Given the description of an element on the screen output the (x, y) to click on. 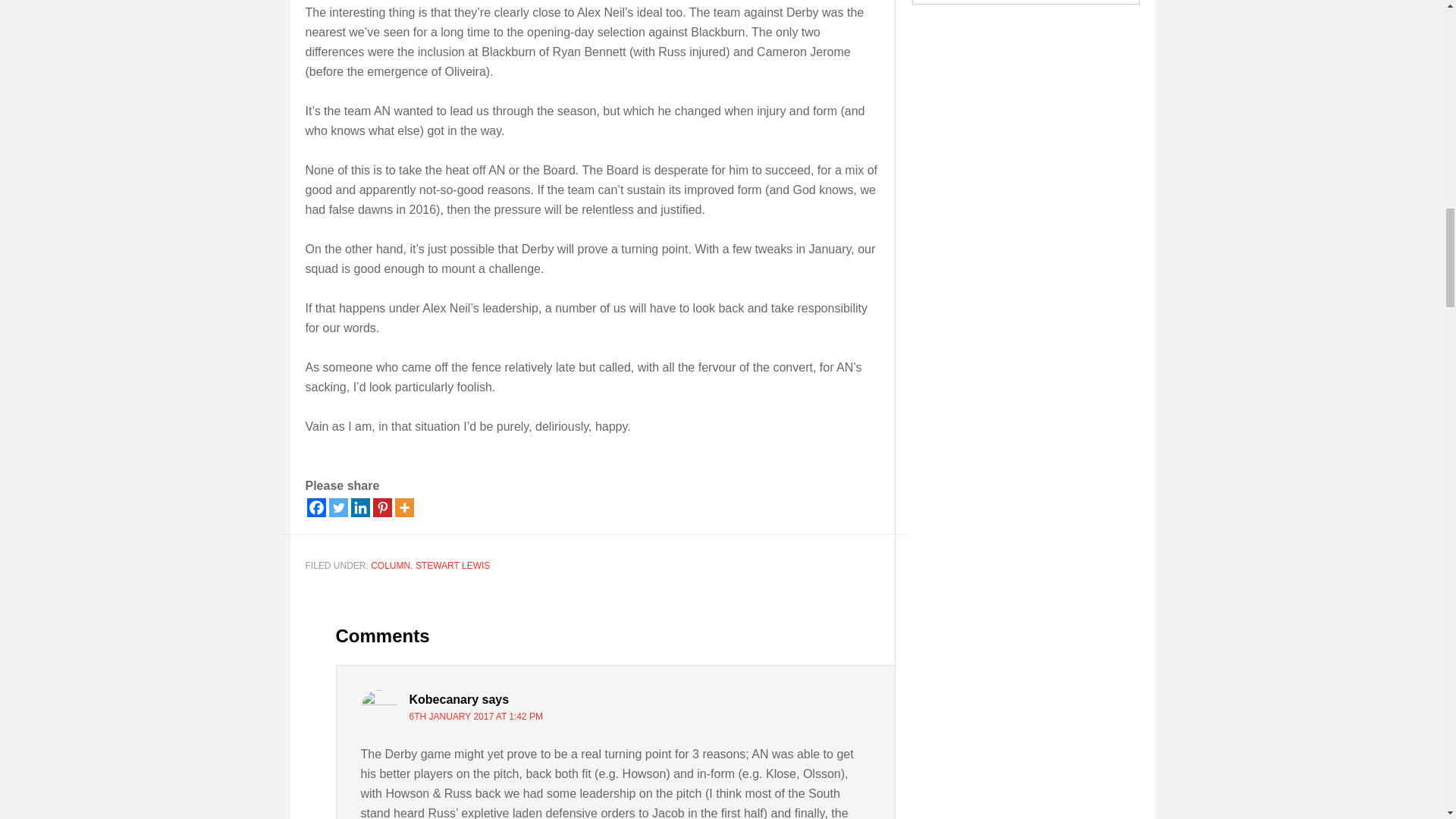
STEWART LEWIS (451, 565)
Linkedin (359, 506)
Facebook (314, 506)
More (403, 506)
Twitter (338, 506)
Pinterest (381, 506)
6TH JANUARY 2017 AT 1:42 PM (476, 716)
COLUMN (390, 565)
